Given the description of an element on the screen output the (x, y) to click on. 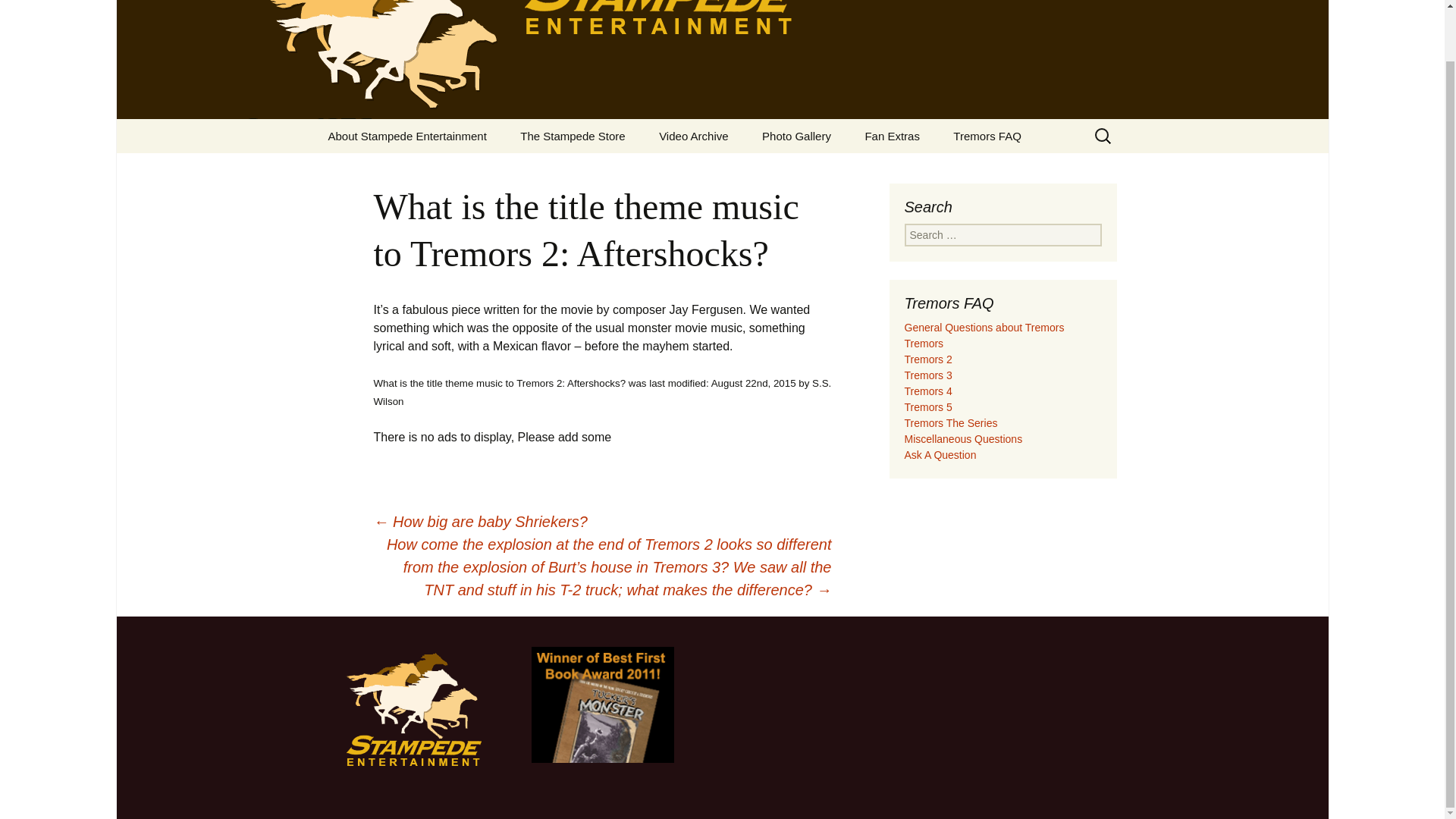
tuckers-monster-ad (601, 704)
NANCY ROBERTS (388, 170)
About Stampede Entertainment (406, 135)
Books (580, 170)
Tremors 2: Aftershocks (822, 170)
The Stampede Store (572, 135)
Tremors (718, 170)
Stampede Entertainment (722, 59)
Photo Gallery (795, 135)
Video Archive (692, 135)
tuckers-monster-ad (601, 703)
